Given the description of an element on the screen output the (x, y) to click on. 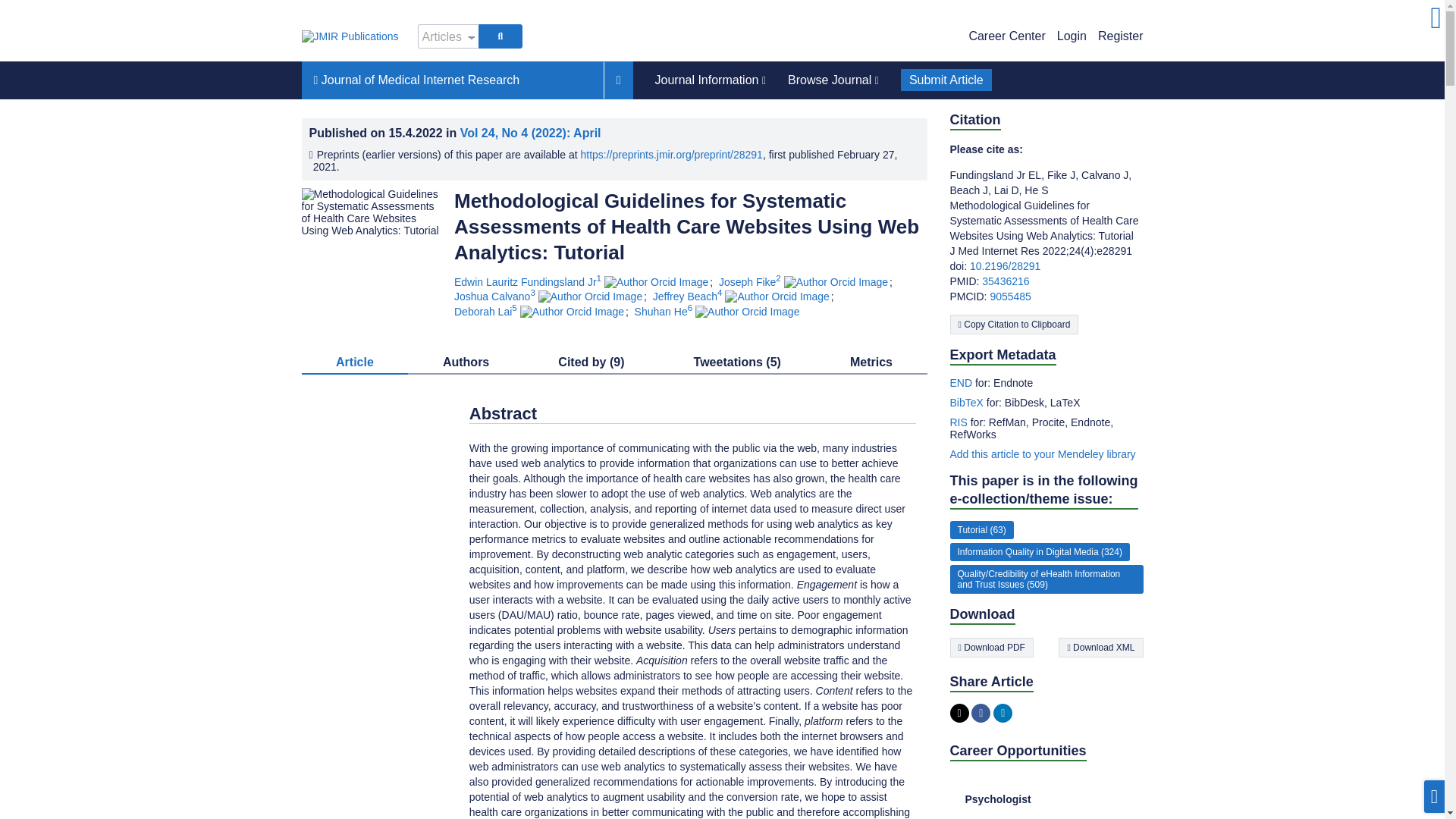
Journal of Medical Internet Research (452, 80)
share-on-Twitter (958, 712)
Login (1071, 35)
Register (1119, 35)
Linkedin (1001, 712)
Copy Citation (1013, 324)
share-on-Facebook (980, 712)
Career Center (1006, 35)
